Given the description of an element on the screen output the (x, y) to click on. 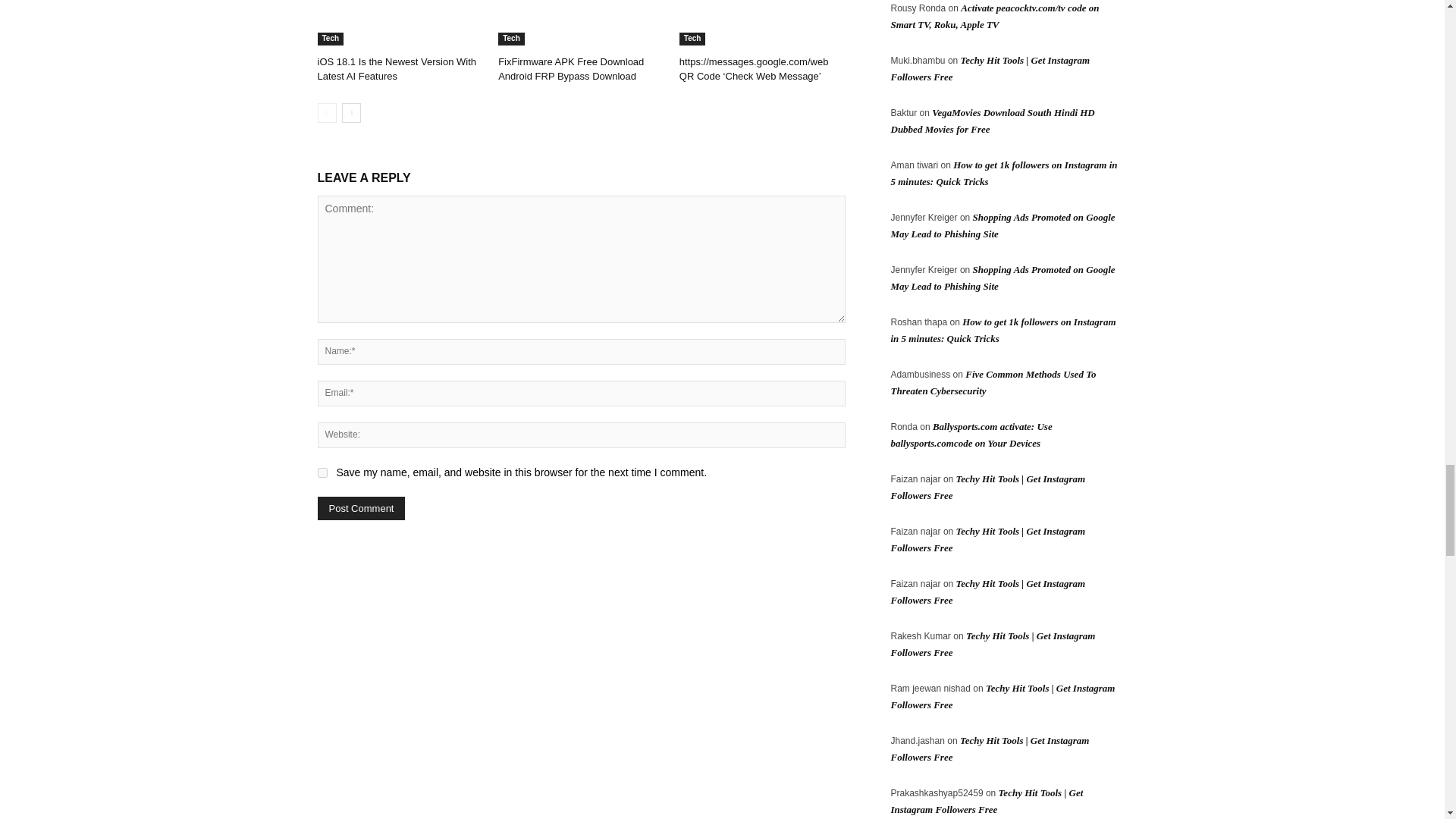
Post Comment (360, 508)
yes (321, 472)
